Given the description of an element on the screen output the (x, y) to click on. 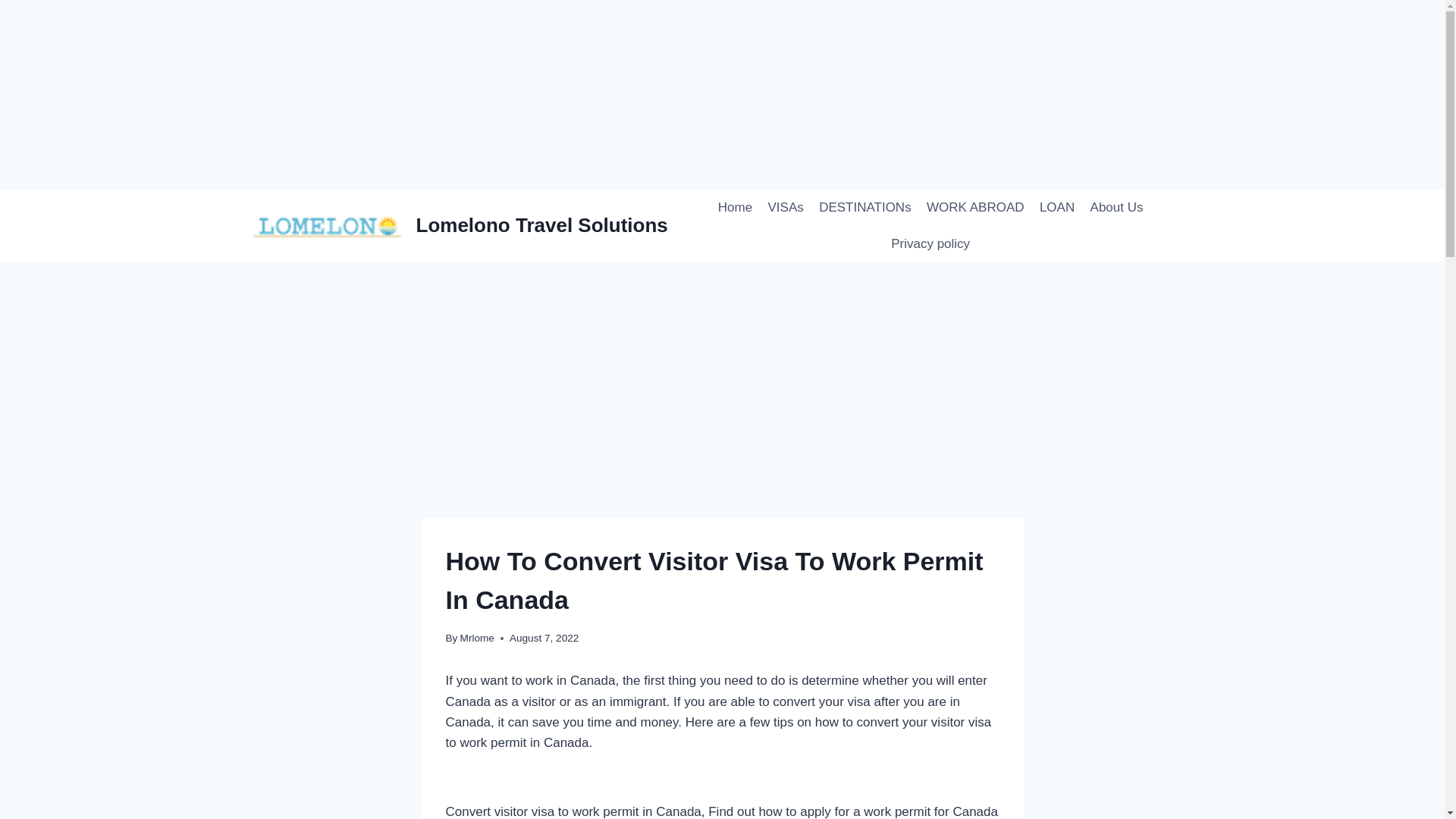
Privacy policy (929, 244)
VISAs (785, 207)
Mrlome (477, 637)
LOAN (1057, 207)
Lomelono Travel Solutions (459, 224)
Home (735, 207)
About Us (1115, 207)
WORK ABROAD (975, 207)
DESTINATIONs (864, 207)
